Given the description of an element on the screen output the (x, y) to click on. 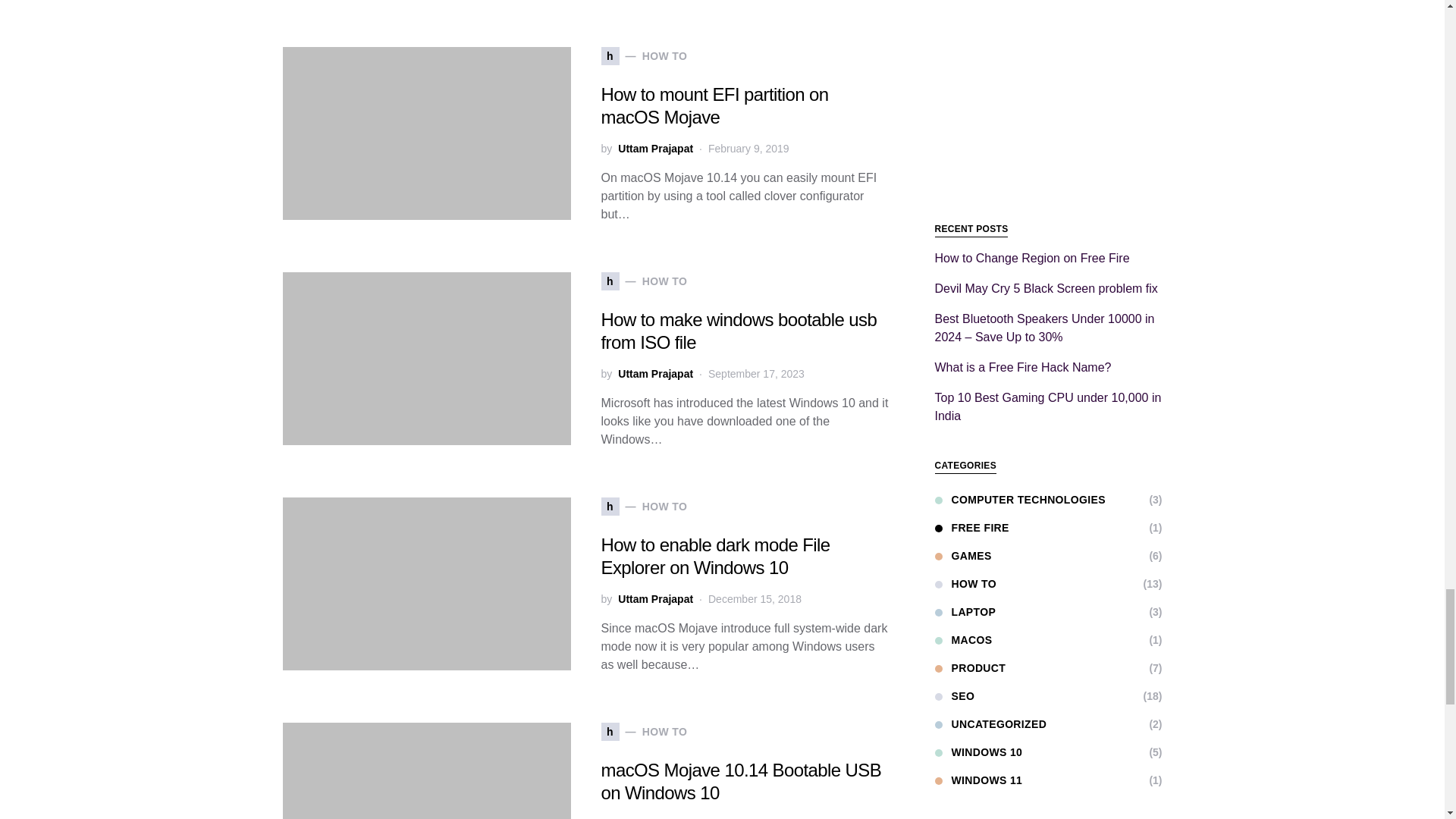
View all posts by Uttam Prajapat (655, 817)
View all posts by Uttam Prajapat (655, 148)
View all posts by Uttam Prajapat (655, 374)
View all posts by Uttam Prajapat (655, 599)
